Given the description of an element on the screen output the (x, y) to click on. 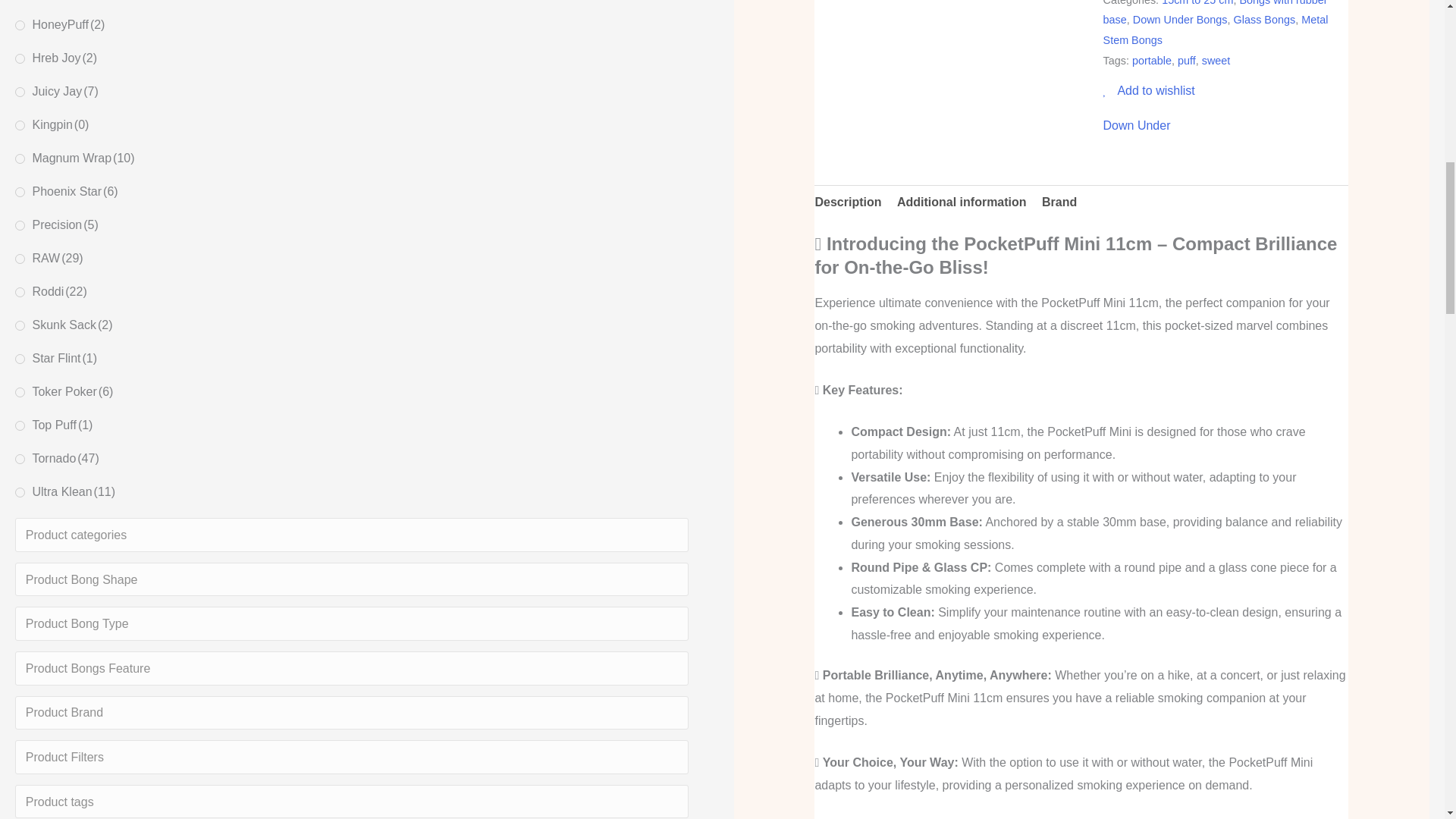
314 (19, 25)
146 (19, 125)
313 (19, 91)
View brand (1136, 125)
685 (19, 58)
